Given the description of an element on the screen output the (x, y) to click on. 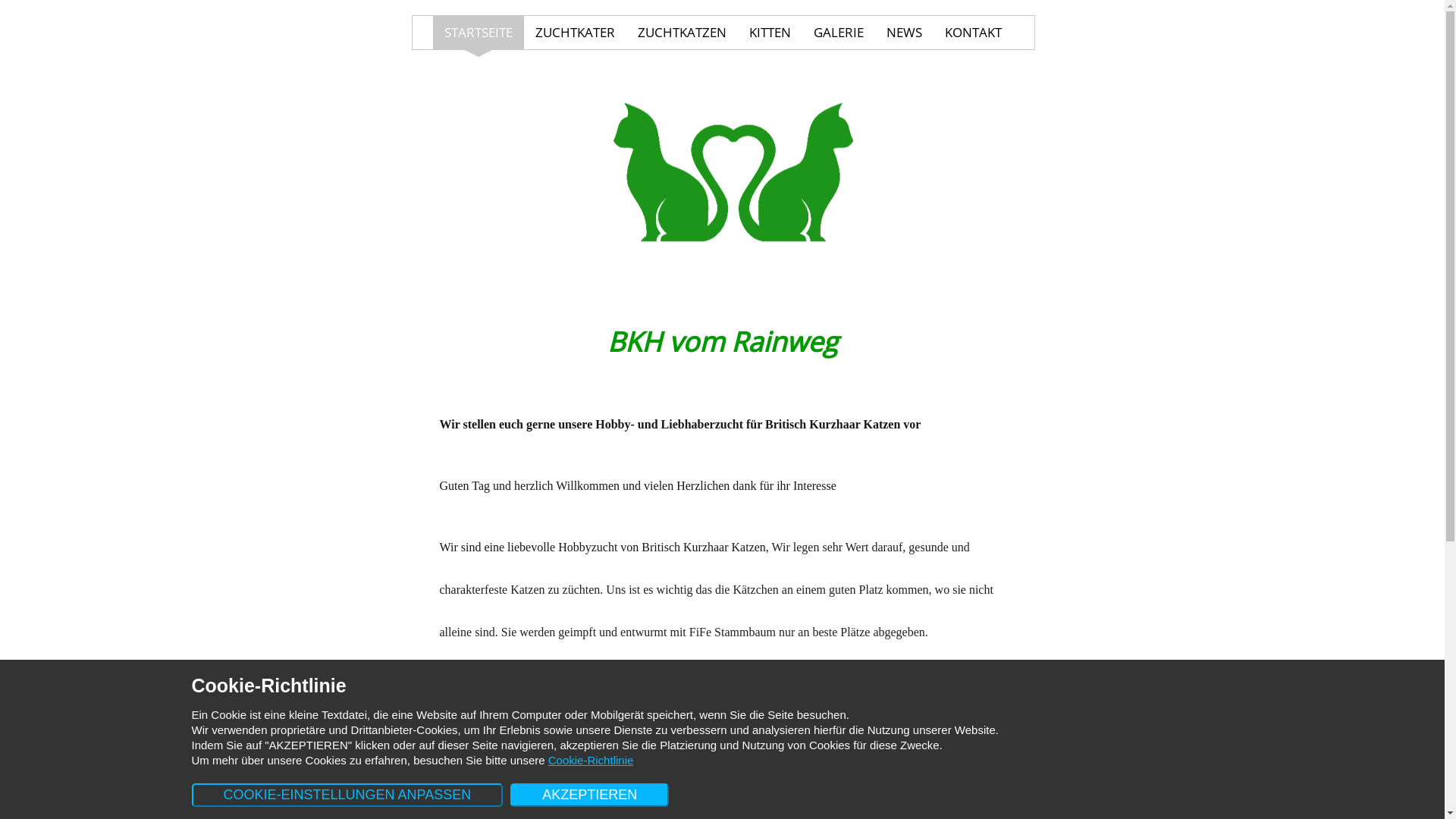
AKZEPTIEREN Element type: text (589, 794)
NEWS Element type: text (904, 32)
Cookie-Richtlinie Element type: text (590, 759)
ZUCHTKATER Element type: text (575, 32)
KITTEN Element type: text (769, 32)
GALERIE Element type: text (838, 32)
STARTSEITE Element type: text (478, 32)
COOKIE-EINSTELLUNGEN ANPASSEN Element type: text (346, 794)
KONTAKT Element type: text (973, 32)
ZUCHTKATZEN Element type: text (681, 32)
